Given the description of an element on the screen output the (x, y) to click on. 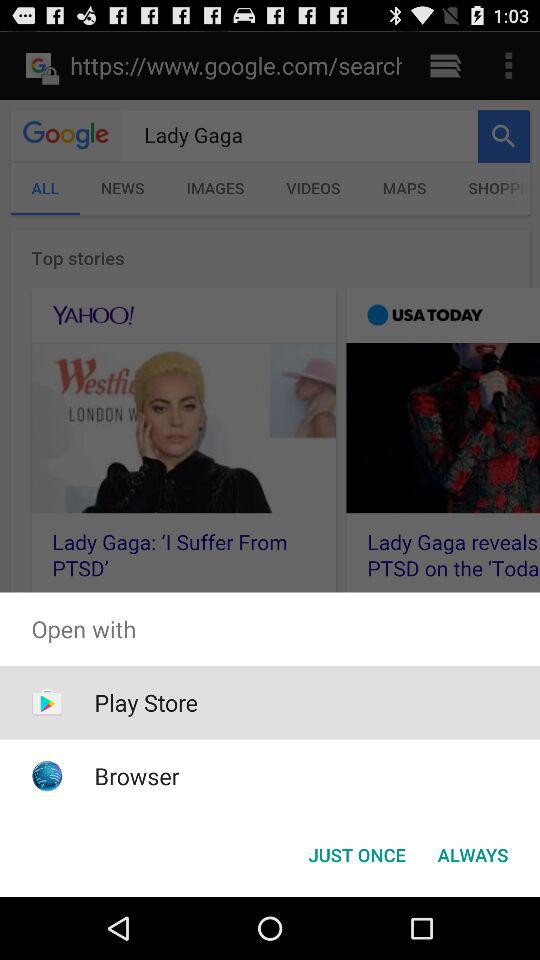
turn off browser item (136, 775)
